Given the description of an element on the screen output the (x, y) to click on. 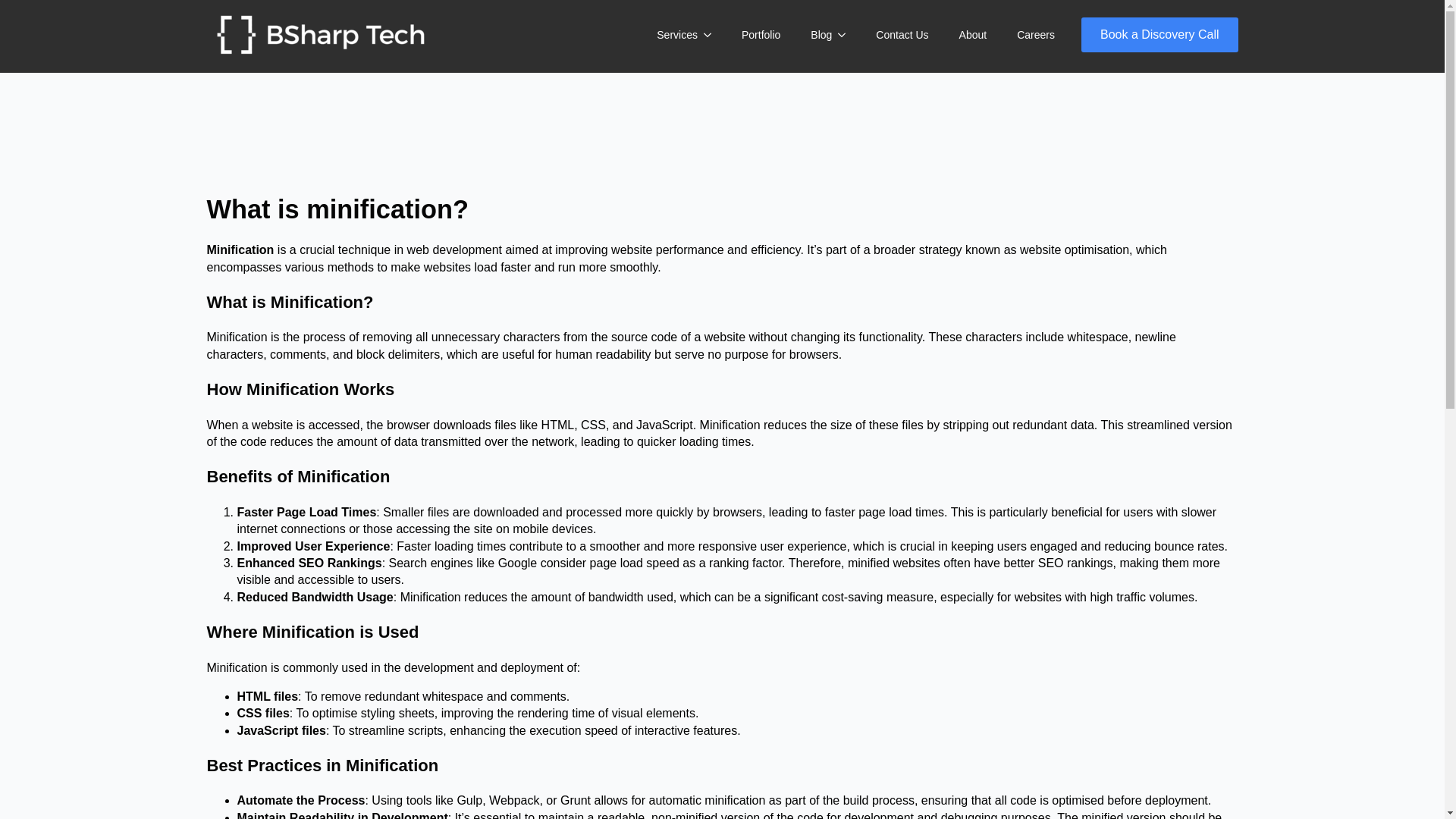
About (973, 34)
Careers (1035, 34)
Book a Discovery Call (1160, 34)
Services (669, 34)
Contact Us (901, 34)
Blog (812, 34)
Portfolio (760, 34)
